Given the description of an element on the screen output the (x, y) to click on. 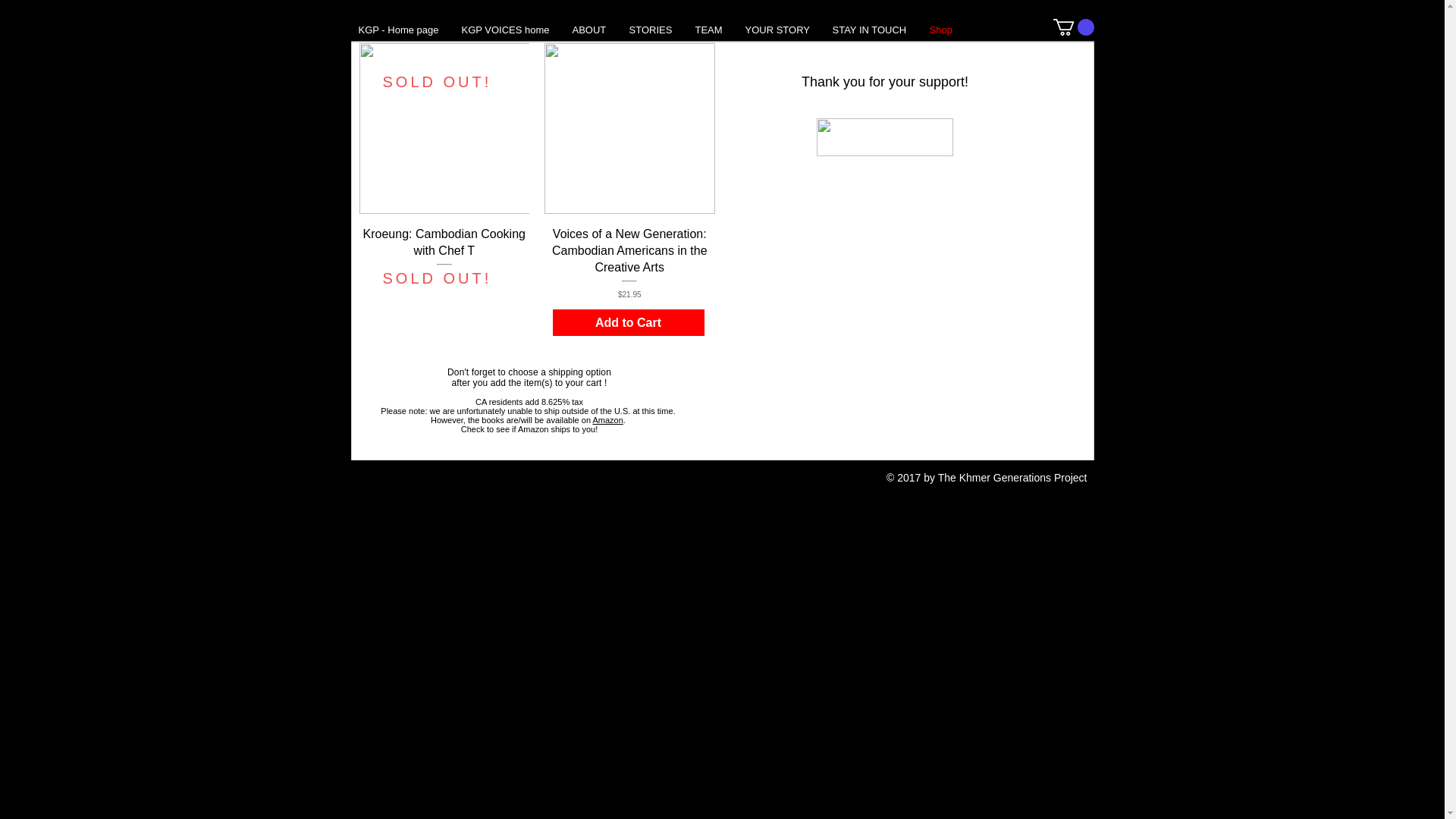
KGP - Home page (398, 29)
Amazon (607, 420)
STAY IN TOUCH (869, 29)
ABOUT (588, 29)
thanks.JPG (883, 136)
Add to Cart (627, 322)
STORIES (649, 29)
TEAM (708, 29)
Shop (939, 29)
YOUR STORY (444, 263)
KGP VOICES home (777, 29)
